Given the description of an element on the screen output the (x, y) to click on. 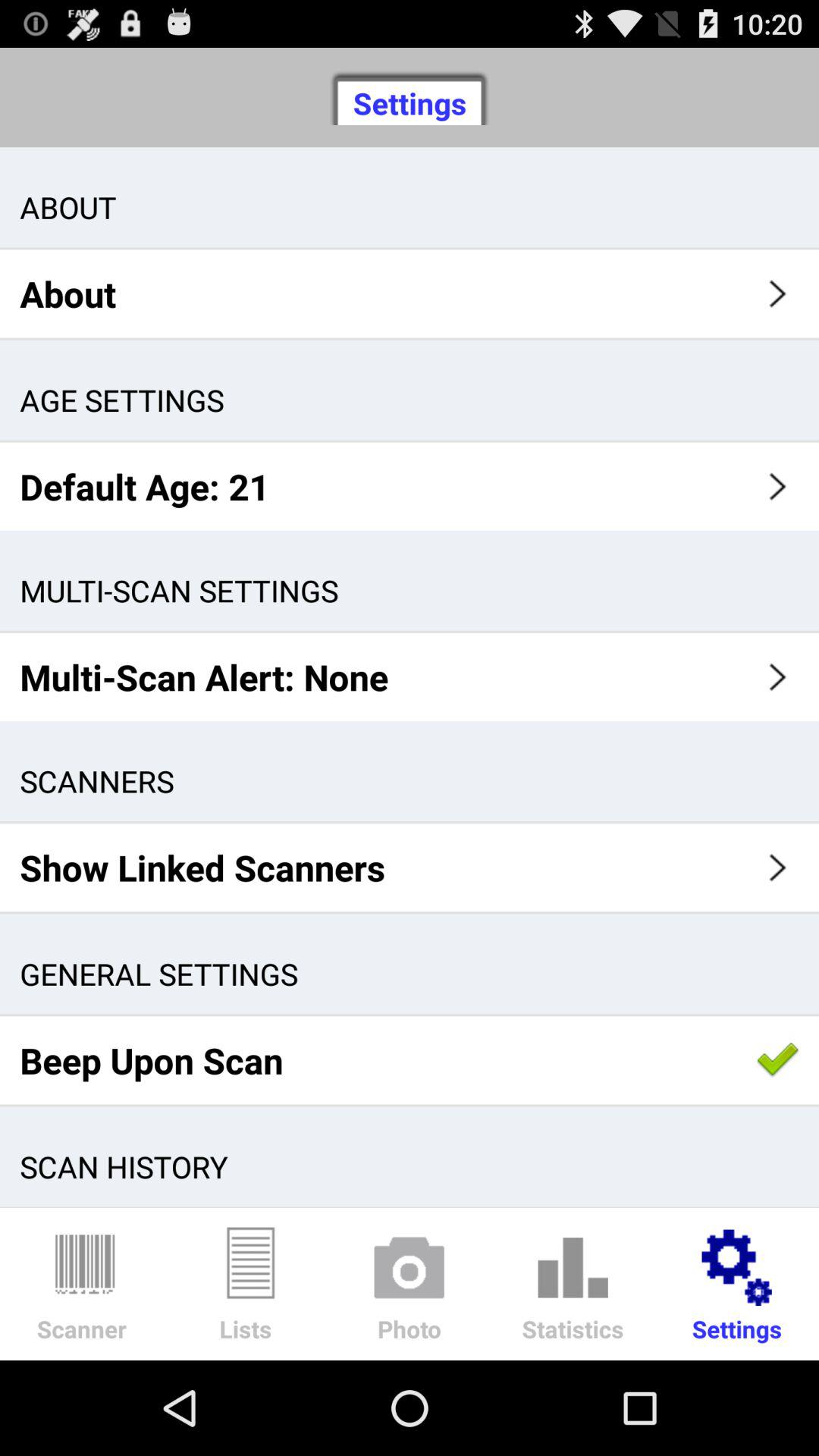
select beep upon scan (409, 1060)
